Given the description of an element on the screen output the (x, y) to click on. 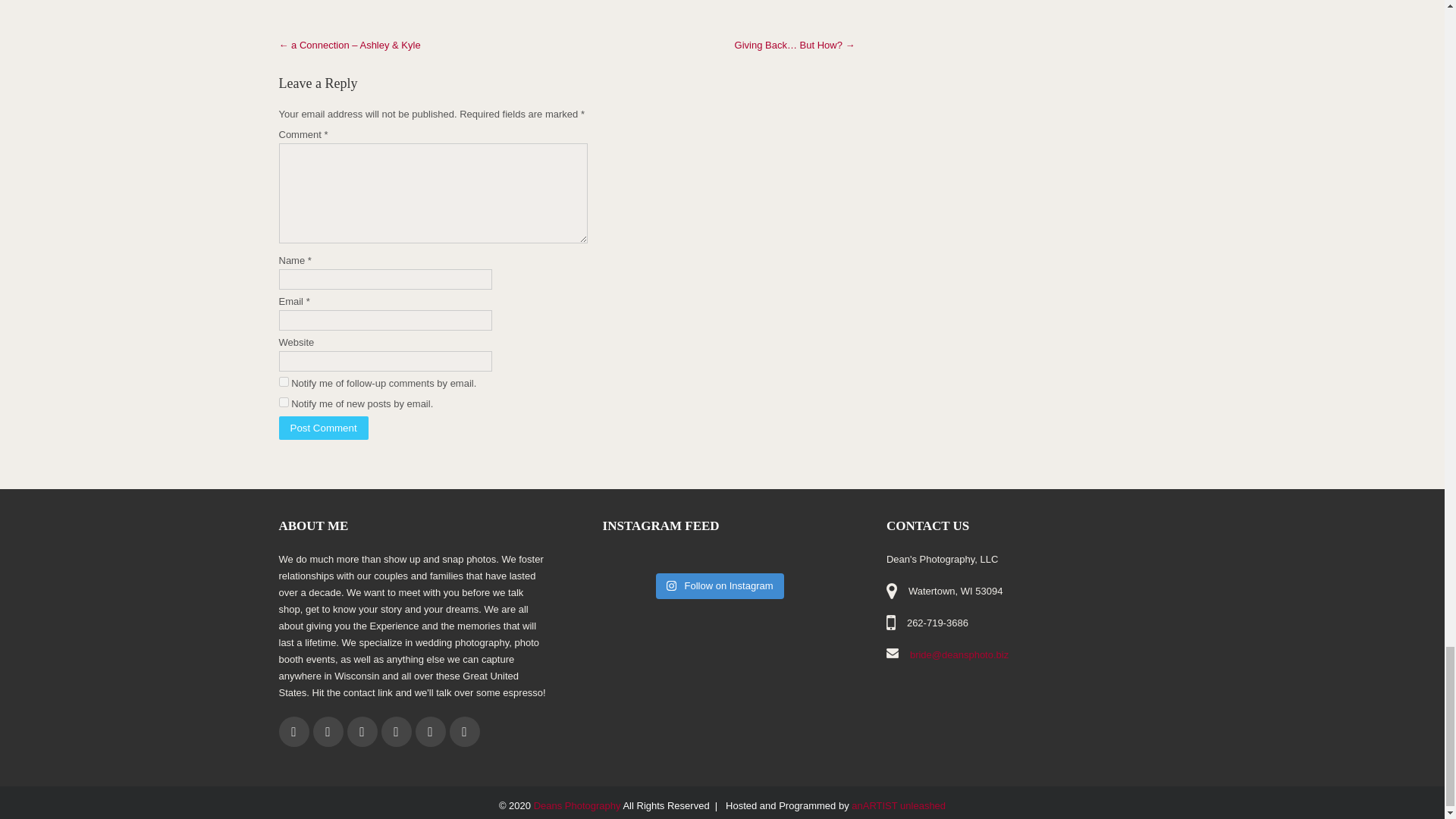
instagram (429, 731)
twitter (327, 731)
linkedin (395, 731)
subscribe (283, 381)
facebook (293, 731)
youtube (463, 731)
subscribe (283, 402)
Post Comment (323, 427)
google-plus (362, 731)
